Given the description of an element on the screen output the (x, y) to click on. 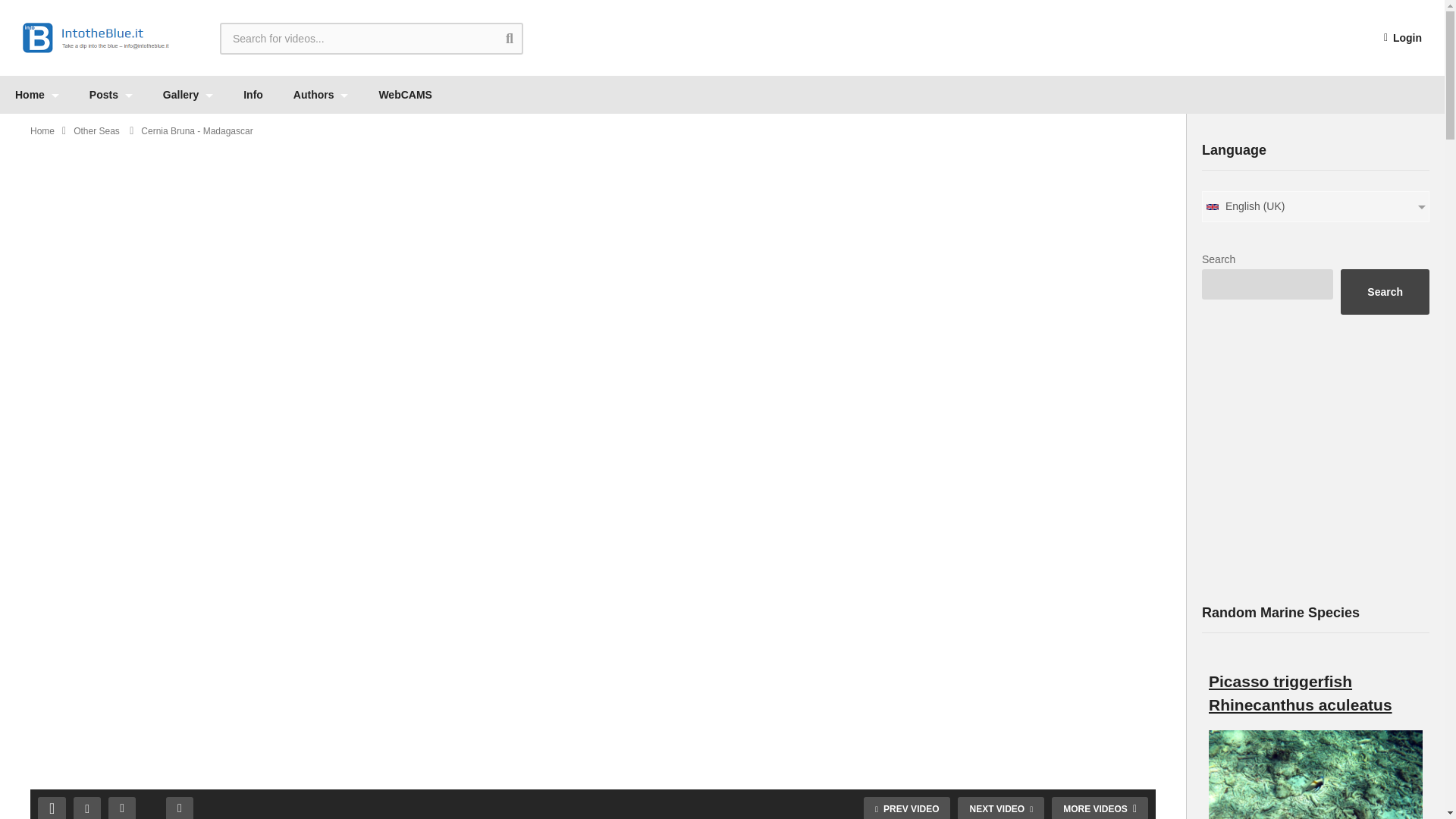
NEXT VIDEO (1000, 807)
MORE VIDEOS (1099, 807)
Authors (321, 94)
Gallery (188, 94)
 Login (1402, 38)
Other Seas (96, 131)
Home (42, 131)
SEARCH (520, 37)
WebCAMS (404, 94)
PREV VIDEO (906, 807)
Home (37, 94)
Intotheblue.link (98, 37)
Info (253, 94)
Posts (111, 94)
SEARCH (520, 37)
